Given the description of an element on the screen output the (x, y) to click on. 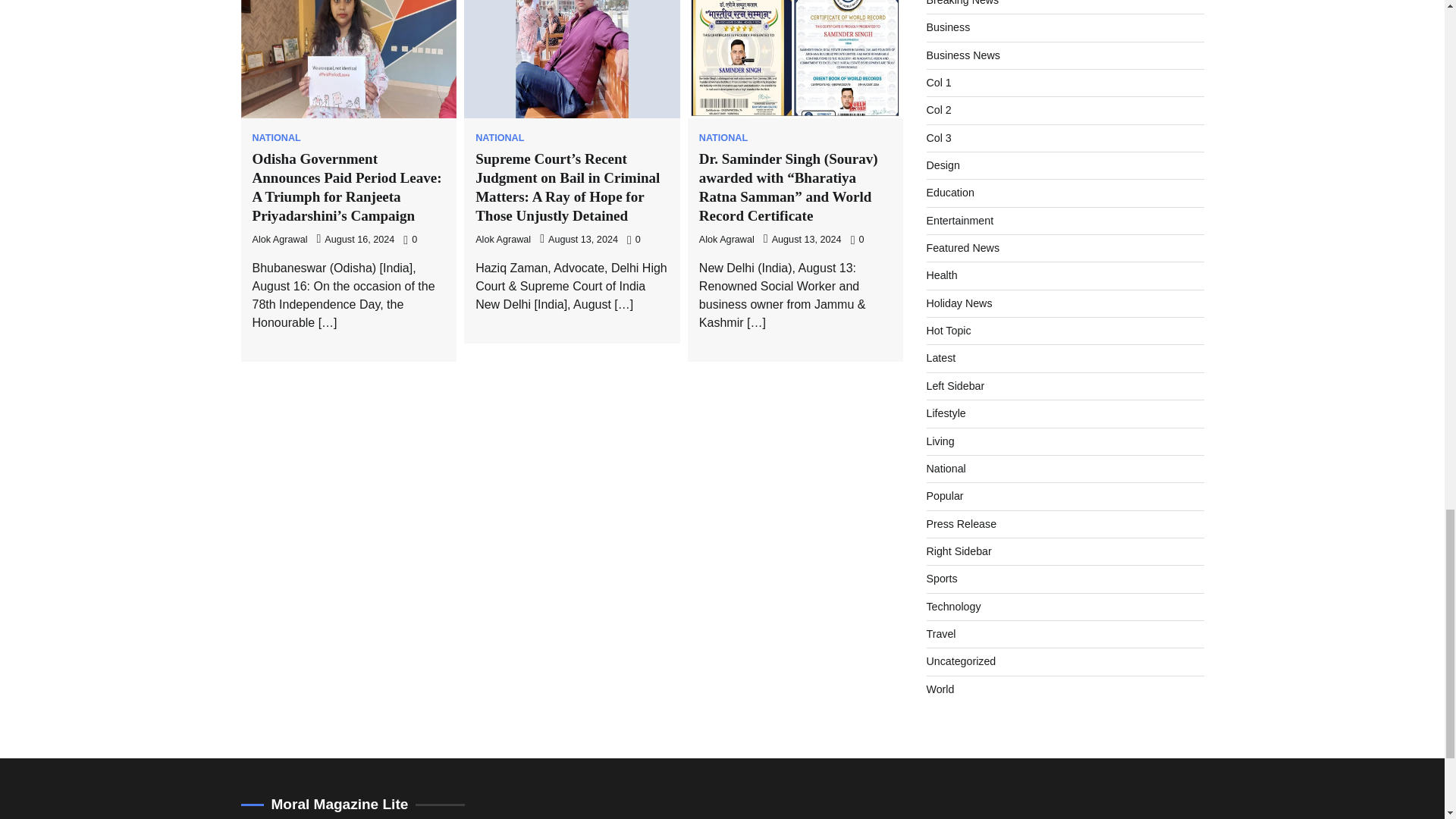
NATIONAL (723, 138)
Alok Agrawal (279, 239)
Alok Agrawal (726, 239)
NATIONAL (275, 138)
NATIONAL (500, 138)
Alok Agrawal (503, 239)
